Given the description of an element on the screen output the (x, y) to click on. 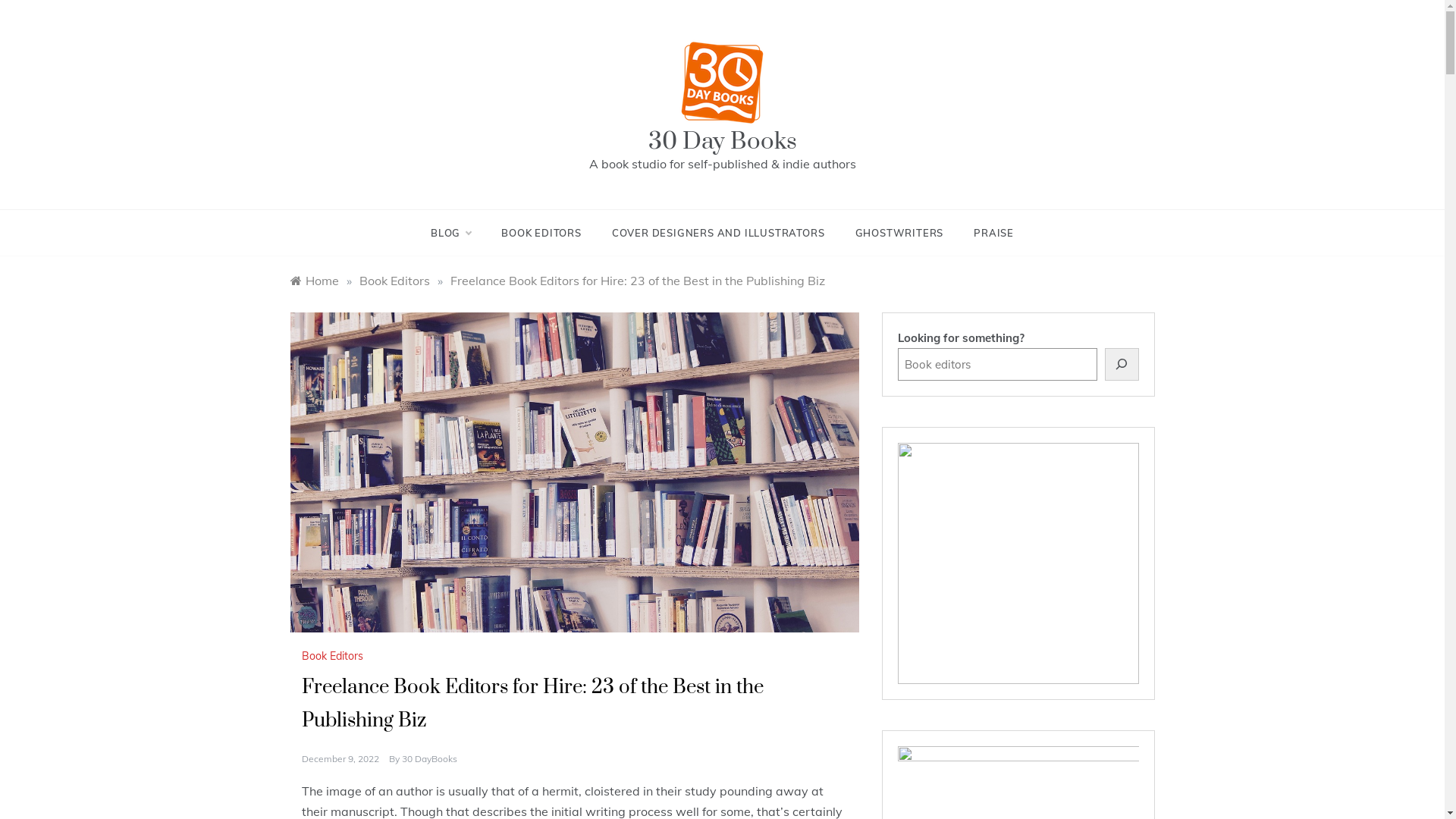
BOOK EDITORS Element type: text (541, 232)
Book Editors Element type: text (394, 280)
30 Day Books Element type: text (721, 141)
December 9, 2022 Element type: text (340, 758)
30 DayBooks Element type: text (429, 758)
COVER DESIGNERS AND ILLUSTRATORS Element type: text (718, 232)
Home Element type: text (313, 280)
GHOSTWRITERS Element type: text (899, 232)
BLOG Element type: text (458, 232)
Book Editors Element type: text (334, 655)
PRAISE Element type: text (985, 232)
